Given the description of an element on the screen output the (x, y) to click on. 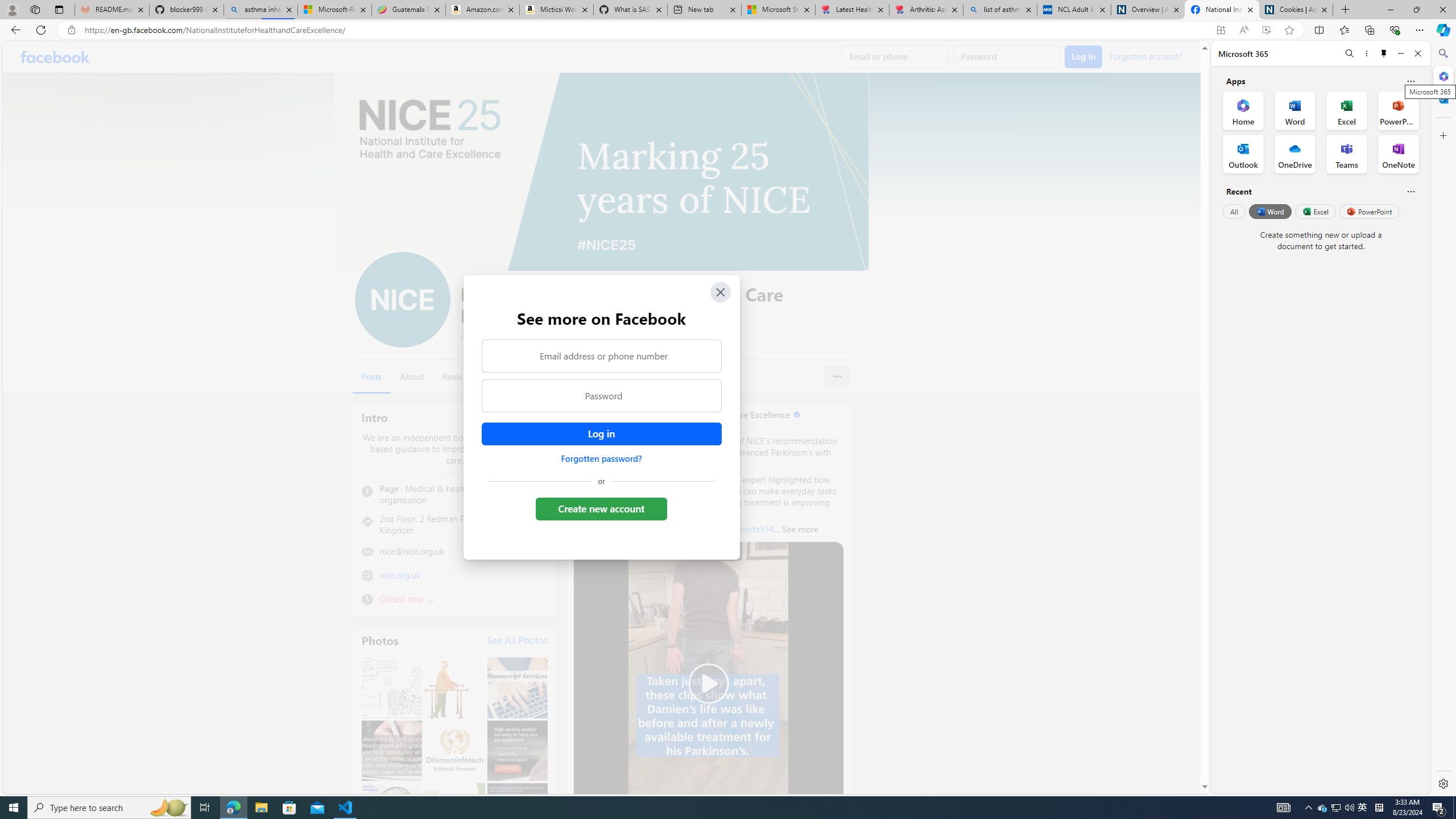
Forgotten password? (601, 458)
Forgotten account? (1145, 55)
Home Office App (1243, 110)
PowerPoint Office App (1398, 110)
Facebook (55, 56)
Unpin side pane (1383, 53)
Facebook (55, 56)
Teams Office App (1346, 154)
Email address or phone number (600, 355)
